Given the description of an element on the screen output the (x, y) to click on. 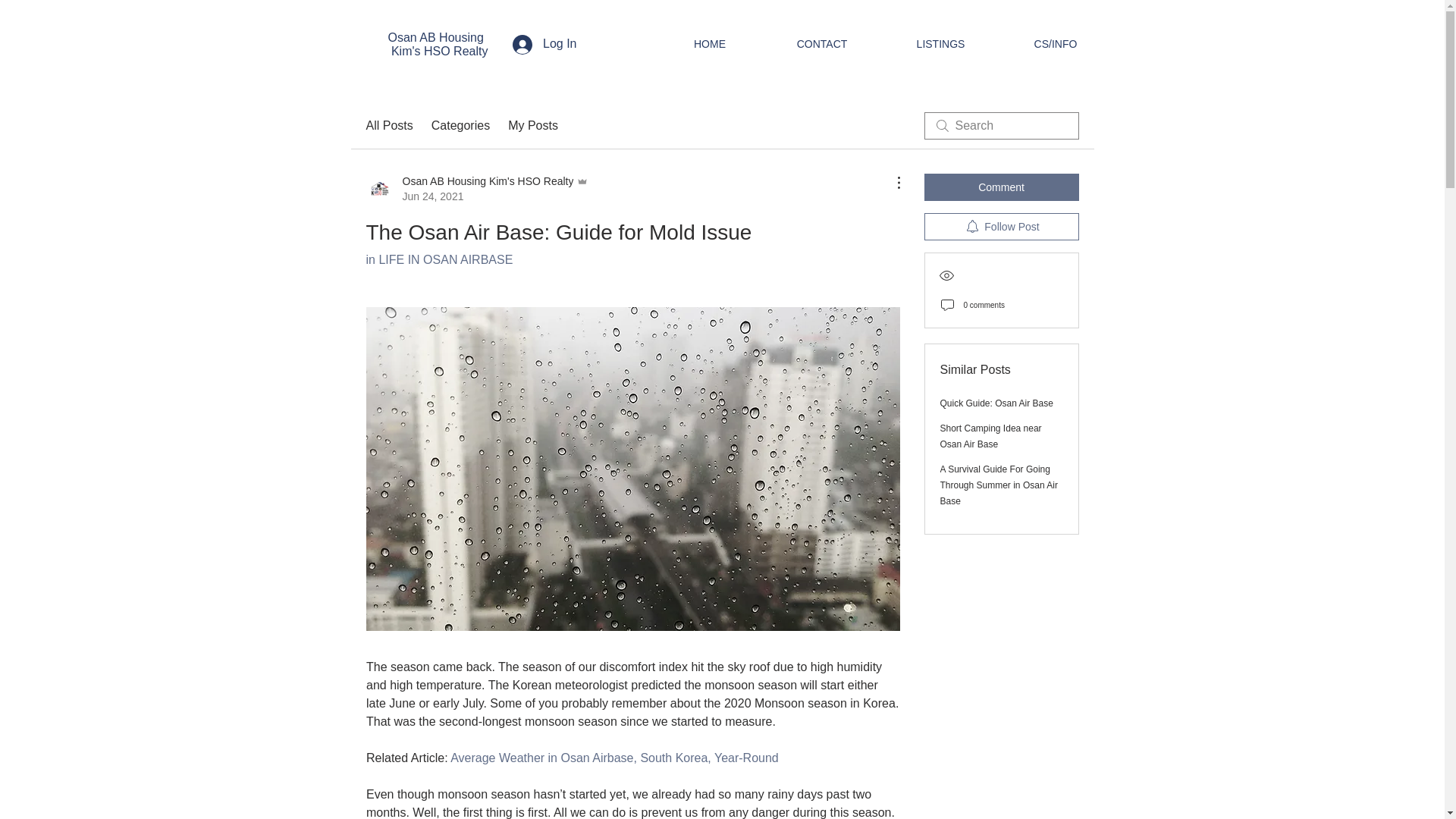
Log In (544, 44)
Categories (459, 126)
My Posts (532, 126)
Average Weather in Osan Airbase, South Korea, Year-Round (613, 757)
Short Camping Idea near Osan Air Base (991, 436)
Osan AB Housing  Kim's HSO Realty (437, 44)
A Survival Guide For Going Through Summer in Osan Air Base (999, 485)
LISTINGS (940, 43)
All Posts (388, 126)
CONTACT (821, 43)
